Given the description of an element on the screen output the (x, y) to click on. 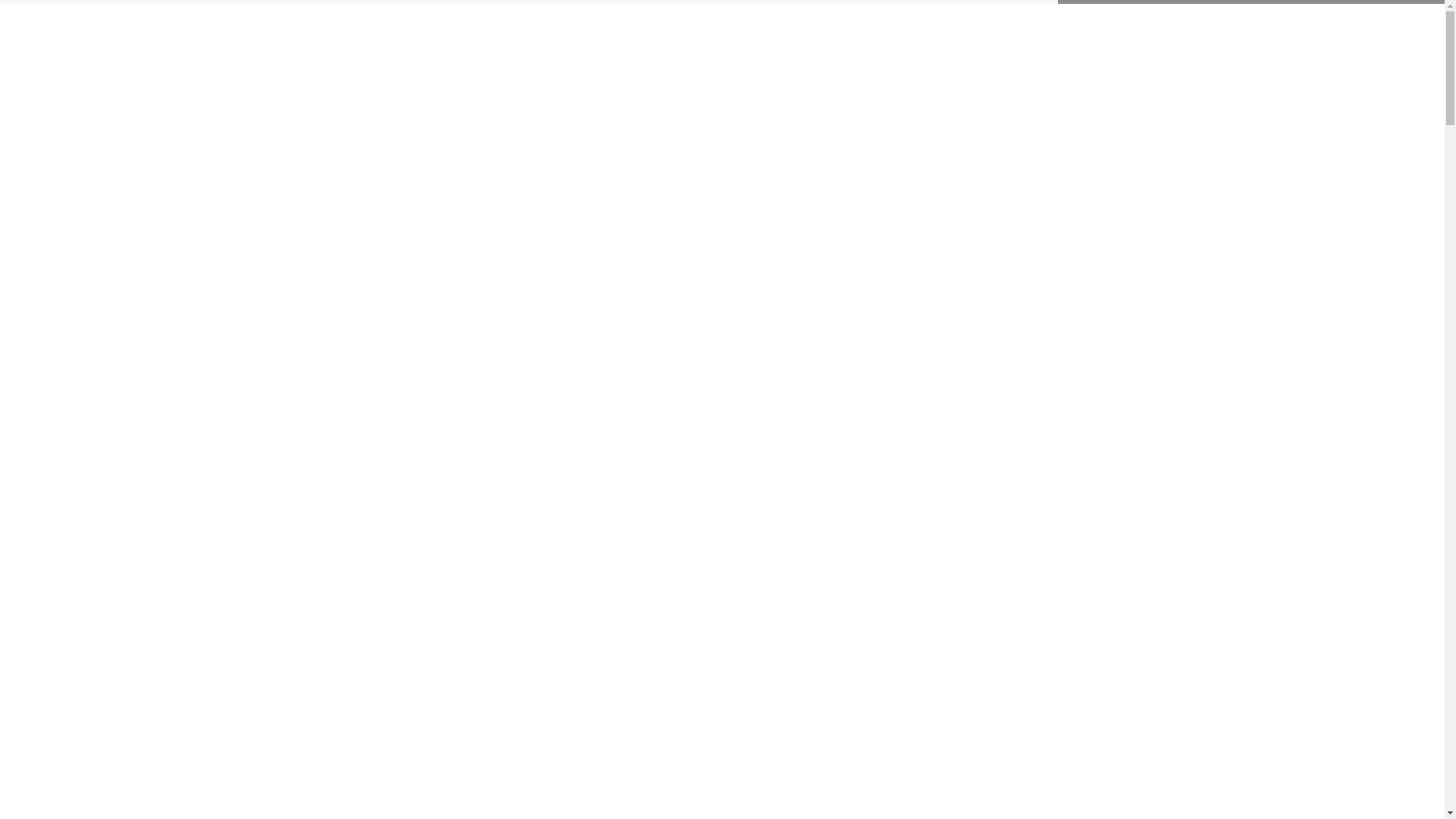
What we do Element type: text (607, 33)
Home Element type: text (536, 34)
Get in touch Element type: text (975, 33)
How we do it Element type: text (696, 33)
Why choose us Element type: text (880, 33)
REQUEST A CALL BACK Element type: text (1106, 37)
Who we are Element type: text (786, 33)
